Given the description of an element on the screen output the (x, y) to click on. 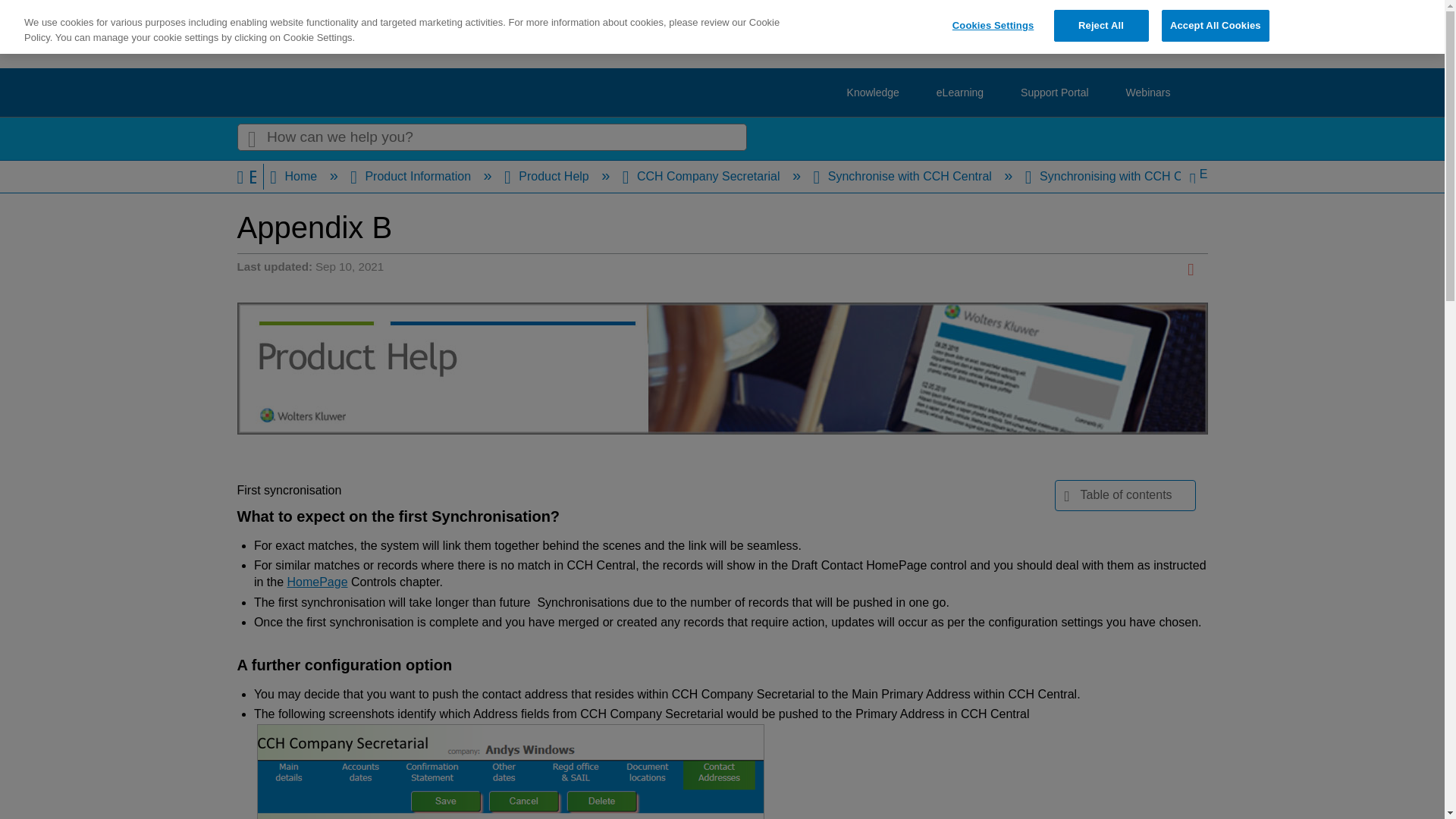
Search (250, 137)
Webinars (1147, 92)
Knowledge (873, 92)
Support Portal (1054, 92)
eLearning (960, 92)
Home (294, 175)
Home Page controls (316, 581)
Skip to main content (55, 3)
CCH Company Secretarial (703, 175)
Product Information (412, 175)
